Given the description of an element on the screen output the (x, y) to click on. 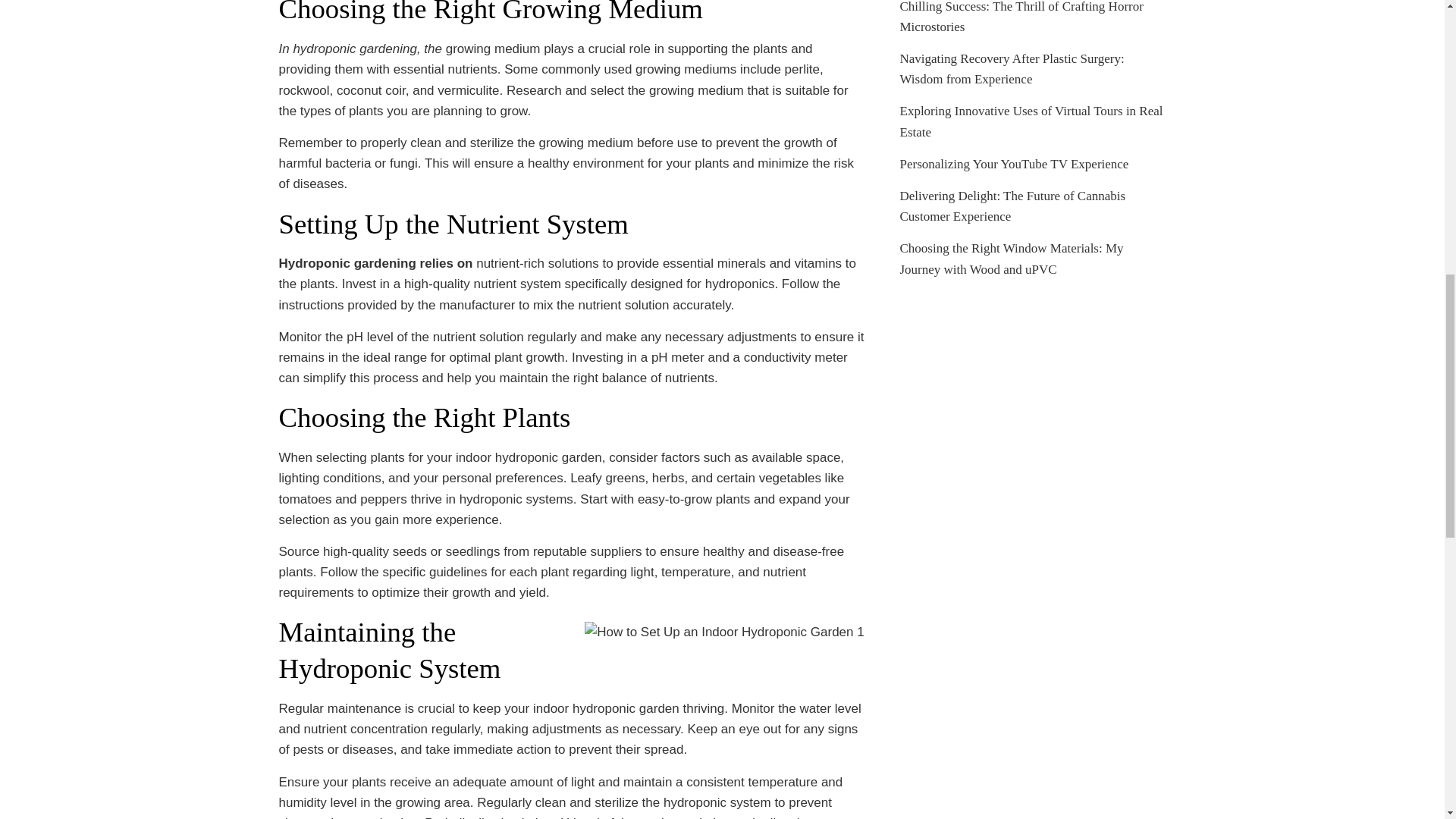
Exploring Innovative Uses of Virtual Tours in Real Estate (1030, 121)
Chilling Success: The Thrill of Crafting Horror Microstories (1020, 17)
Personalizing Your YouTube TV Experience (1013, 164)
